Given the description of an element on the screen output the (x, y) to click on. 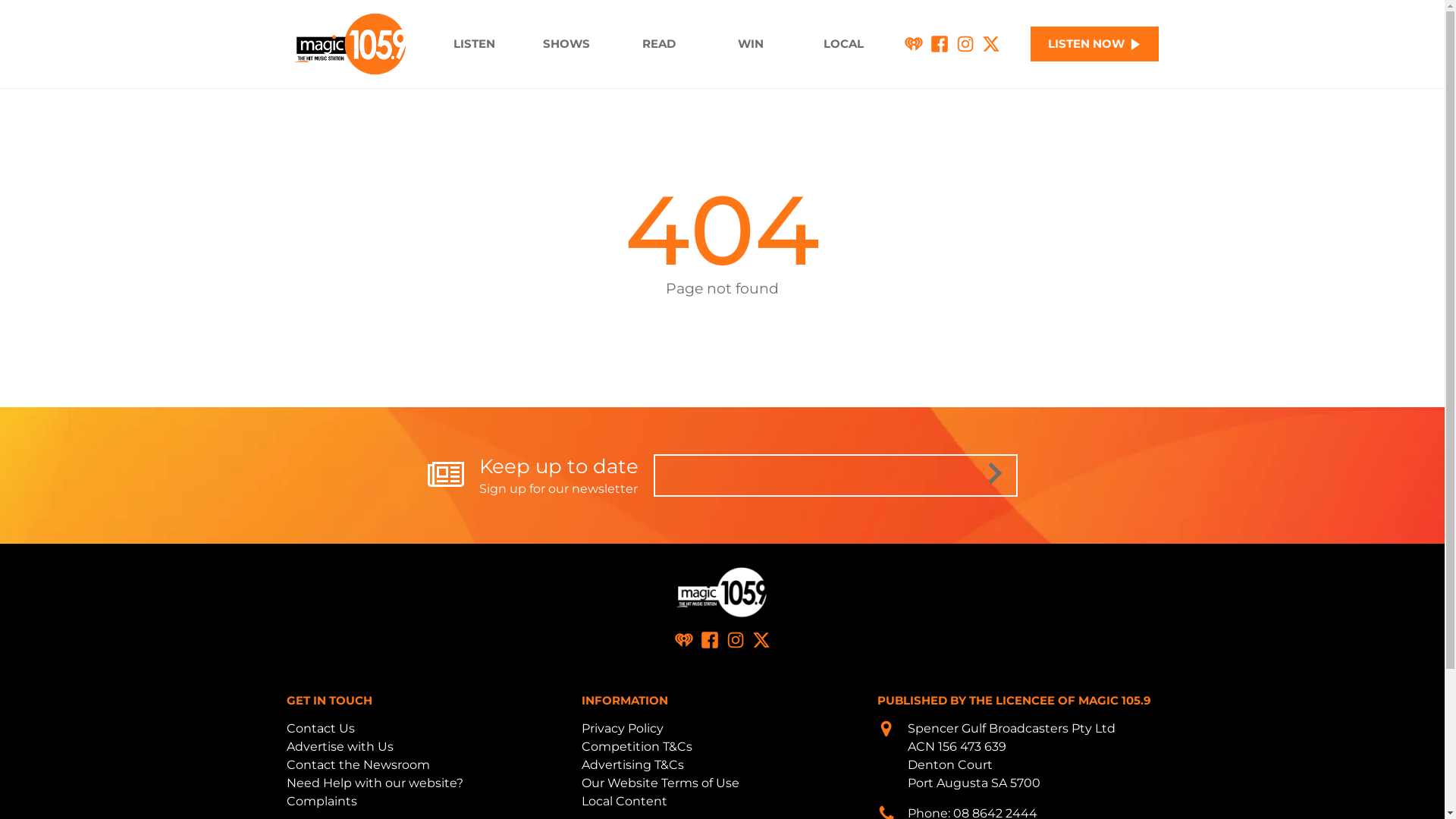
Complaints Element type: text (321, 800)
Instagram Element type: text (735, 639)
LISTEN Element type: text (473, 43)
Local Content Element type: text (624, 800)
Facebook Element type: text (709, 639)
Instagram Element type: text (965, 43)
iHeart Element type: text (913, 43)
WIN Element type: text (751, 43)
Need Help with our website? Element type: text (374, 782)
Facebook Element type: text (939, 43)
READ Element type: text (658, 43)
Our Website Terms of Use Element type: text (660, 782)
iHeart Element type: text (683, 639)
Contact Us Element type: text (320, 728)
Privacy Policy Element type: text (622, 728)
Twitter/X Element type: text (761, 639)
Competition T&Cs Element type: text (636, 746)
LISTEN NOW Element type: text (1094, 44)
Advertising T&Cs Element type: text (632, 764)
Contact the Newsroom Element type: text (357, 764)
LOCAL Element type: text (843, 43)
SHOWS Element type: text (566, 43)
Advertise with Us Element type: text (339, 746)
Twitter/X Element type: text (991, 43)
